Given the description of an element on the screen output the (x, y) to click on. 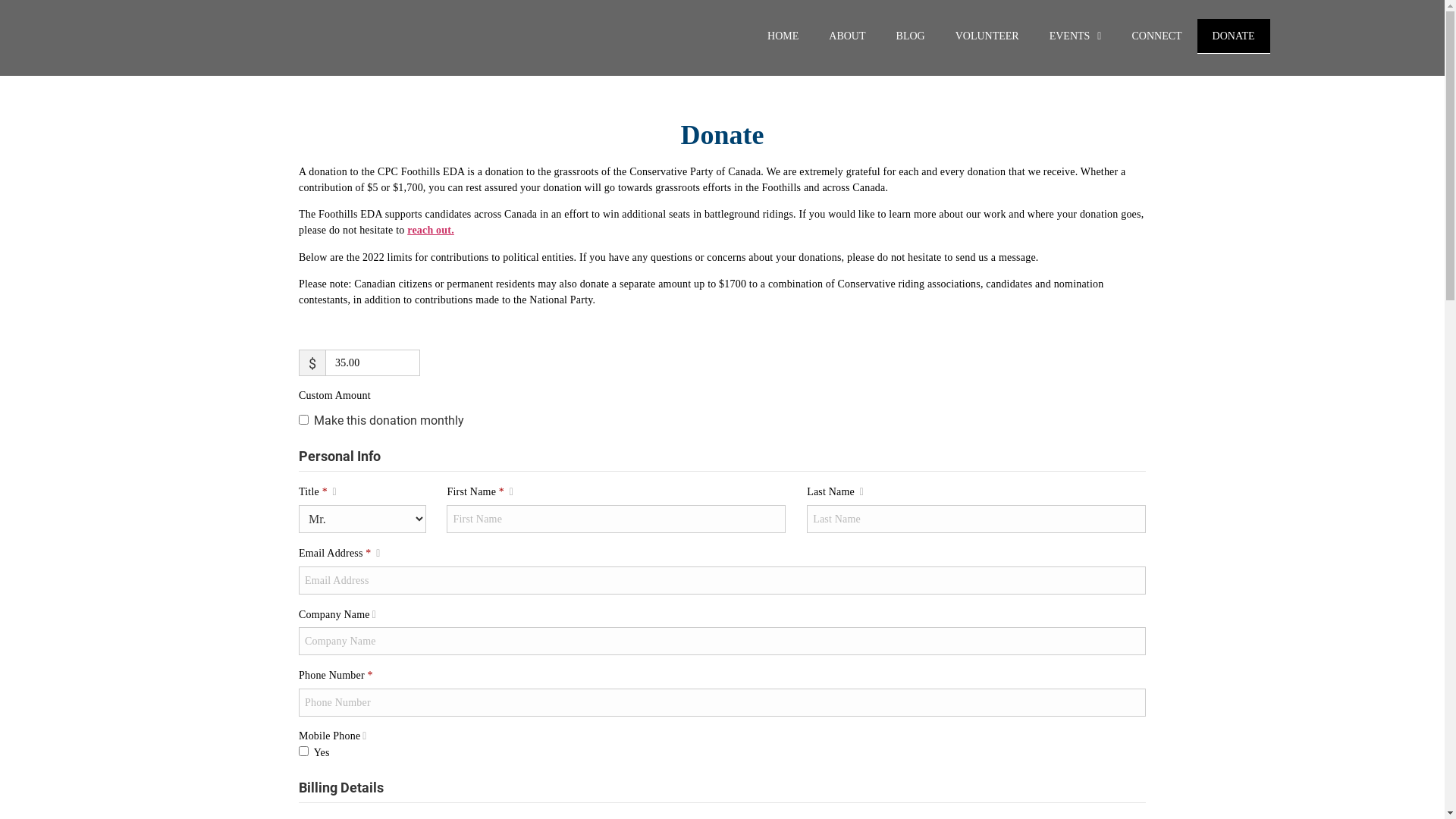
EVENTS Element type: text (1075, 35)
DONATE Element type: text (1233, 35)
HOME Element type: text (782, 35)
ABOUT Element type: text (846, 35)
VOLUNTEER Element type: text (987, 35)
CONNECT Element type: text (1156, 35)
reach out.  Element type: text (431, 229)
BLOG Element type: text (910, 35)
